Given the description of an element on the screen output the (x, y) to click on. 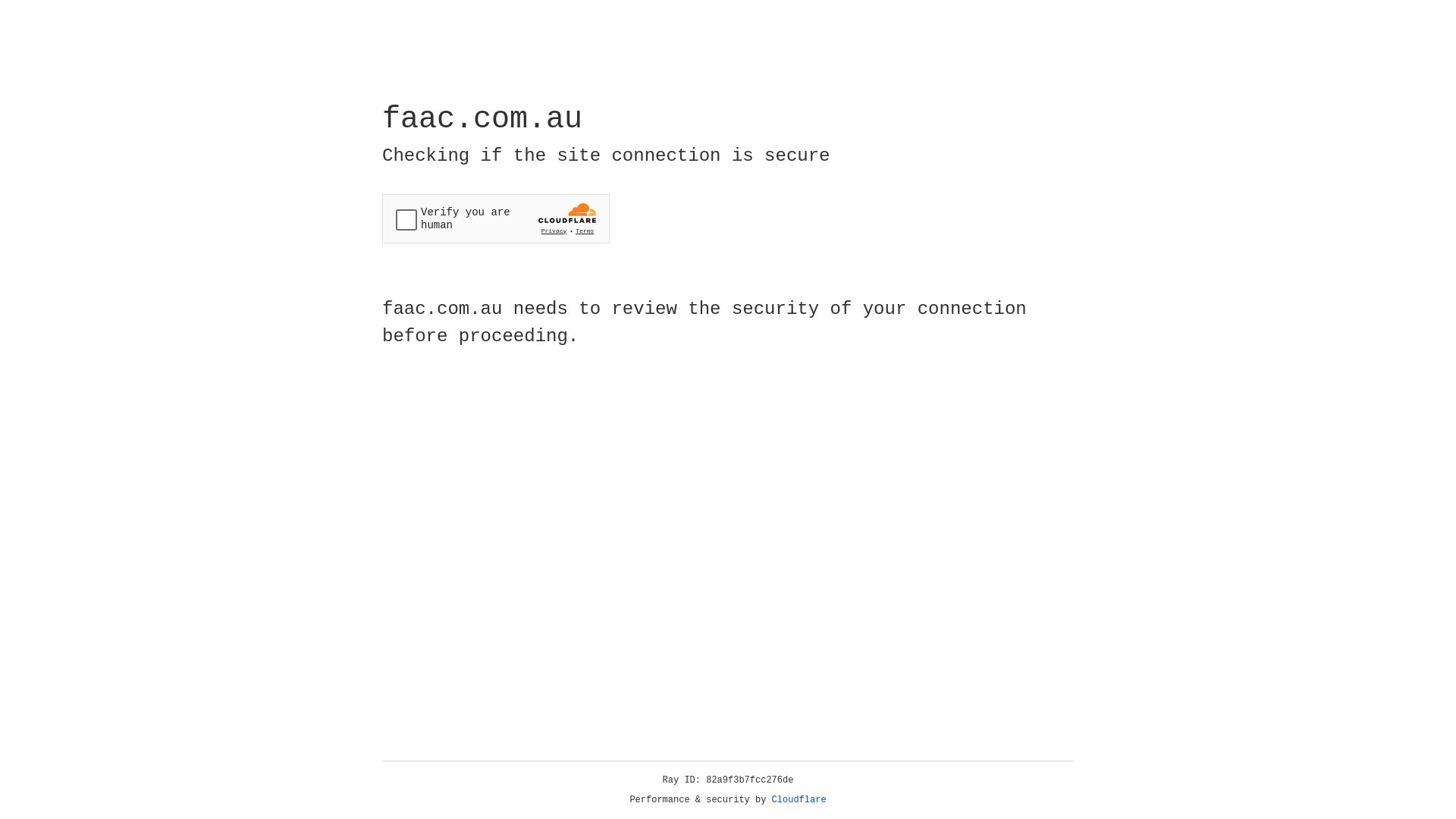
Cloudflare Element type: text (798, 799)
Widget containing a Cloudflare security challenge Element type: hover (495, 218)
